Given the description of an element on the screen output the (x, y) to click on. 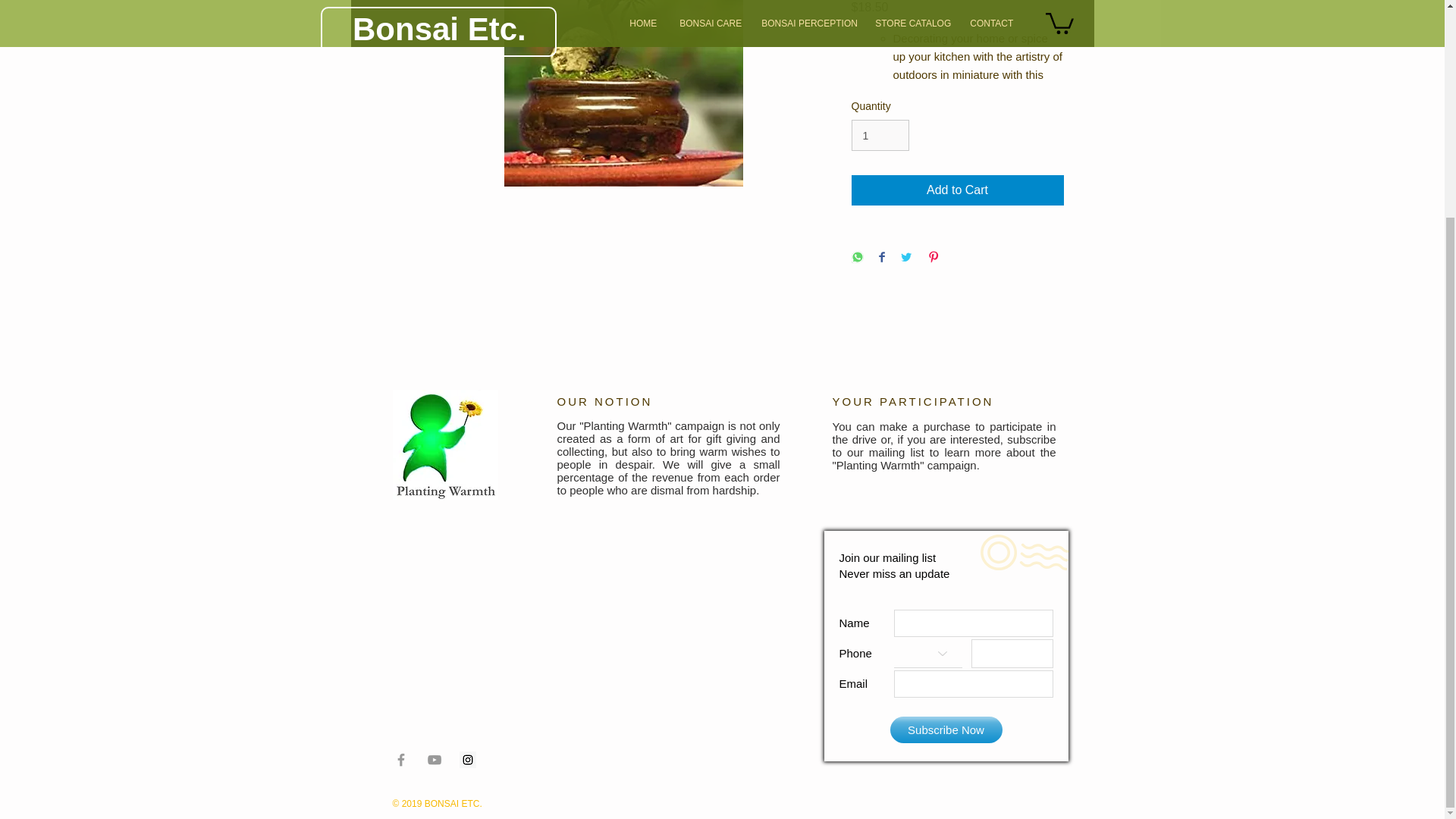
1 (879, 134)
Subscribe Now (946, 729)
Add to Cart (956, 190)
